Given the description of an element on the screen output the (x, y) to click on. 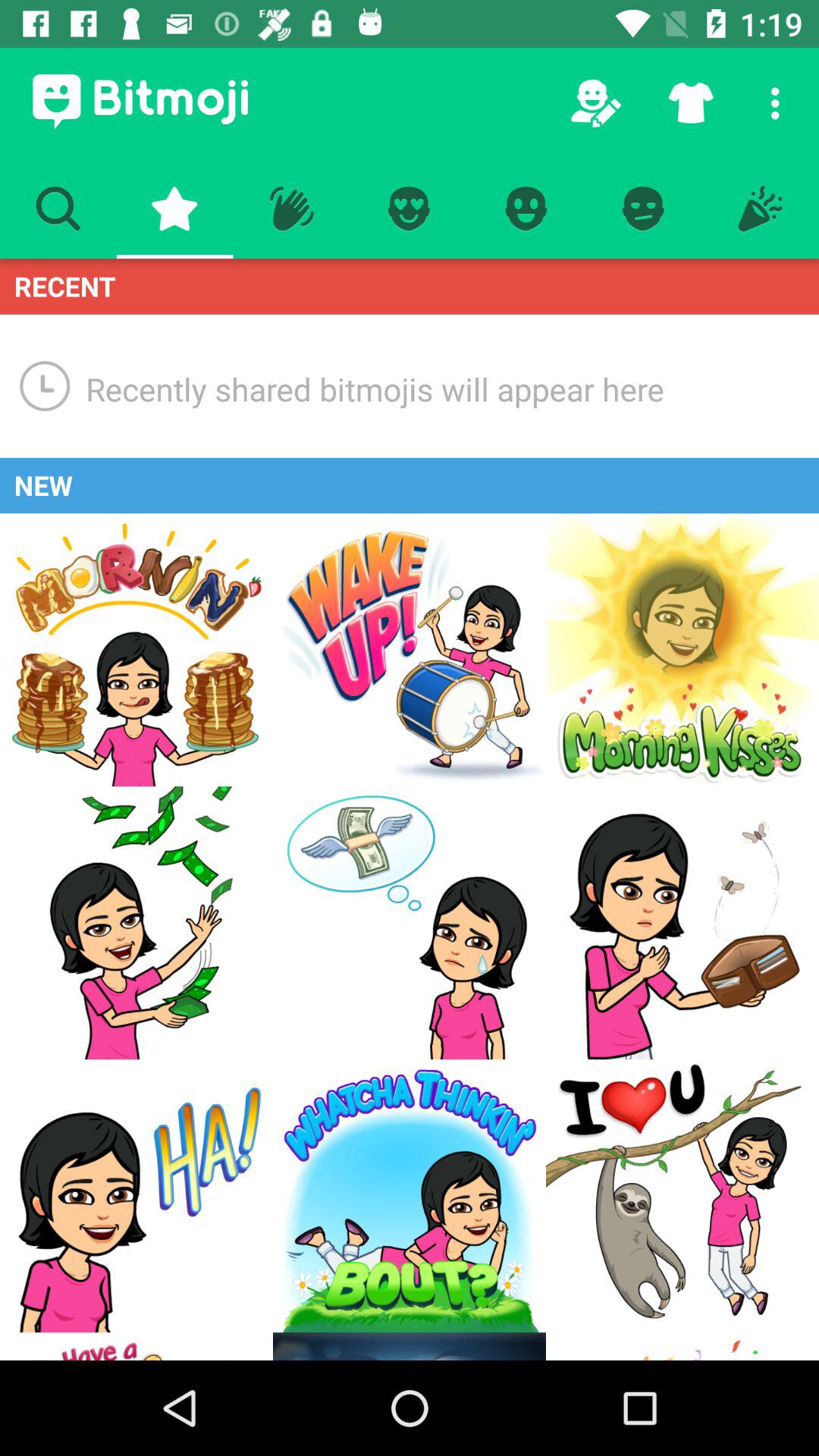
choose emoji (136, 1346)
